Given the description of an element on the screen output the (x, y) to click on. 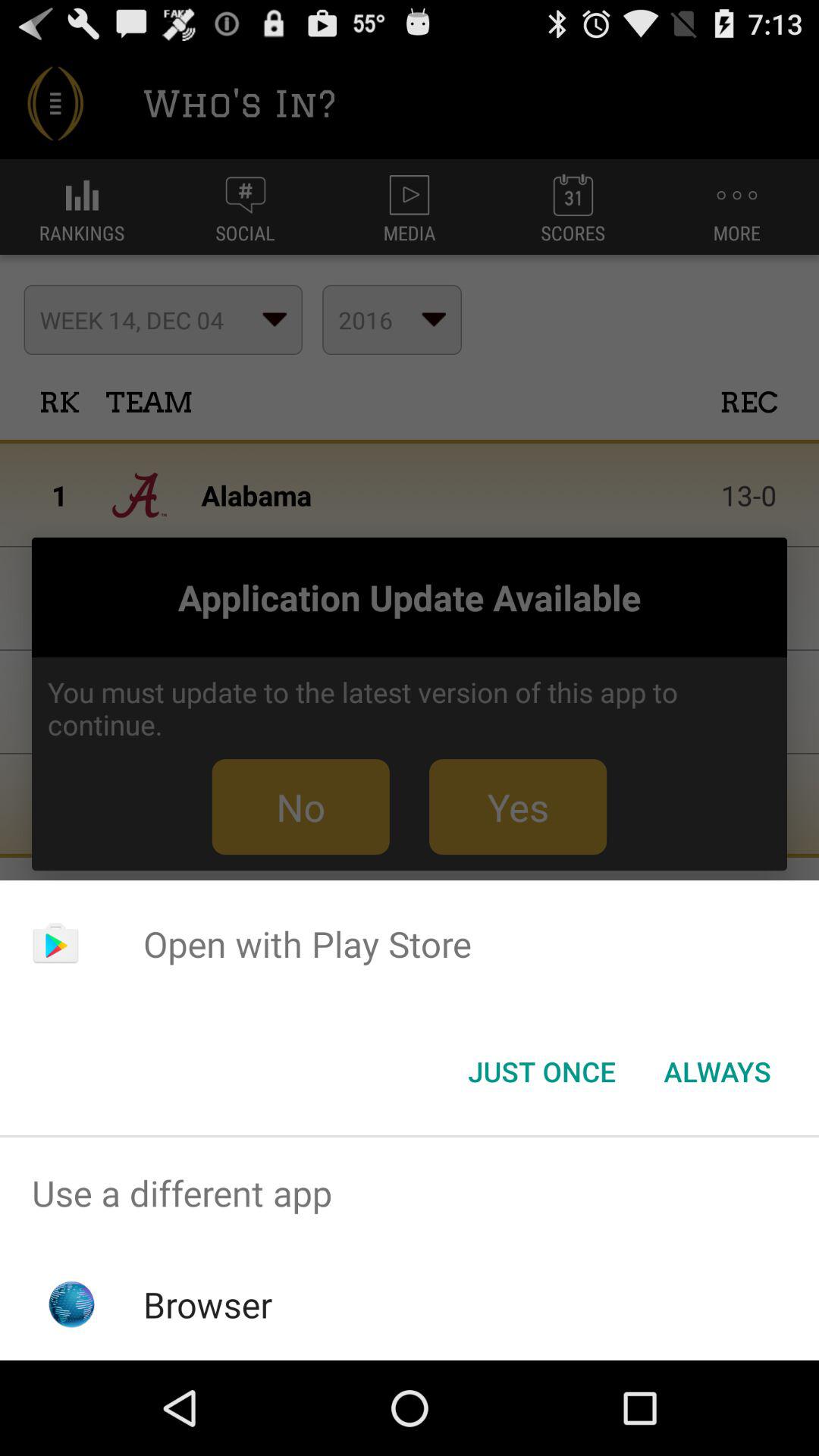
swipe until the browser (207, 1304)
